Given the description of an element on the screen output the (x, y) to click on. 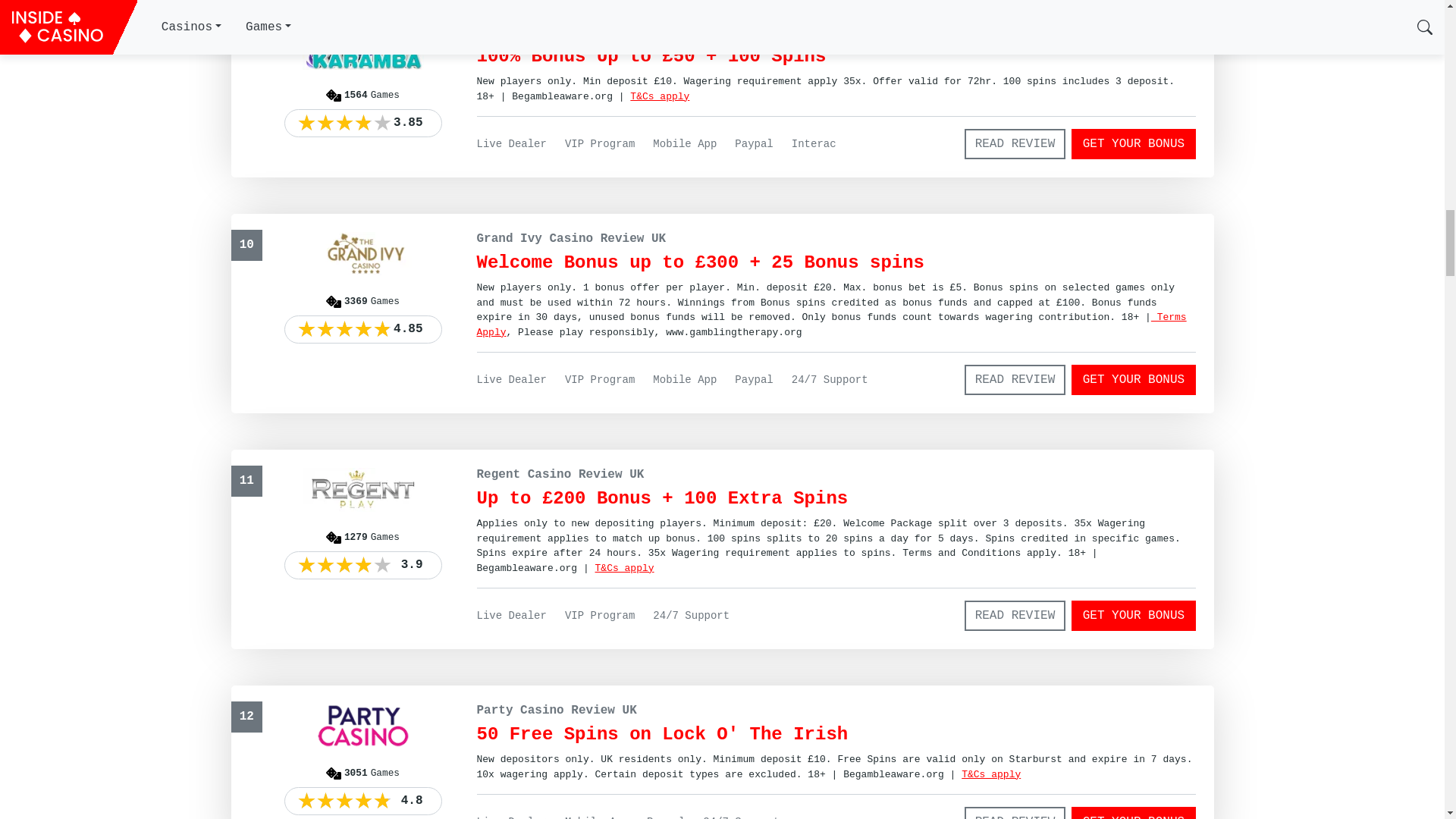
Regent Terms (624, 568)
Karamba Terms (659, 96)
Party Casino (990, 774)
